Given the description of an element on the screen output the (x, y) to click on. 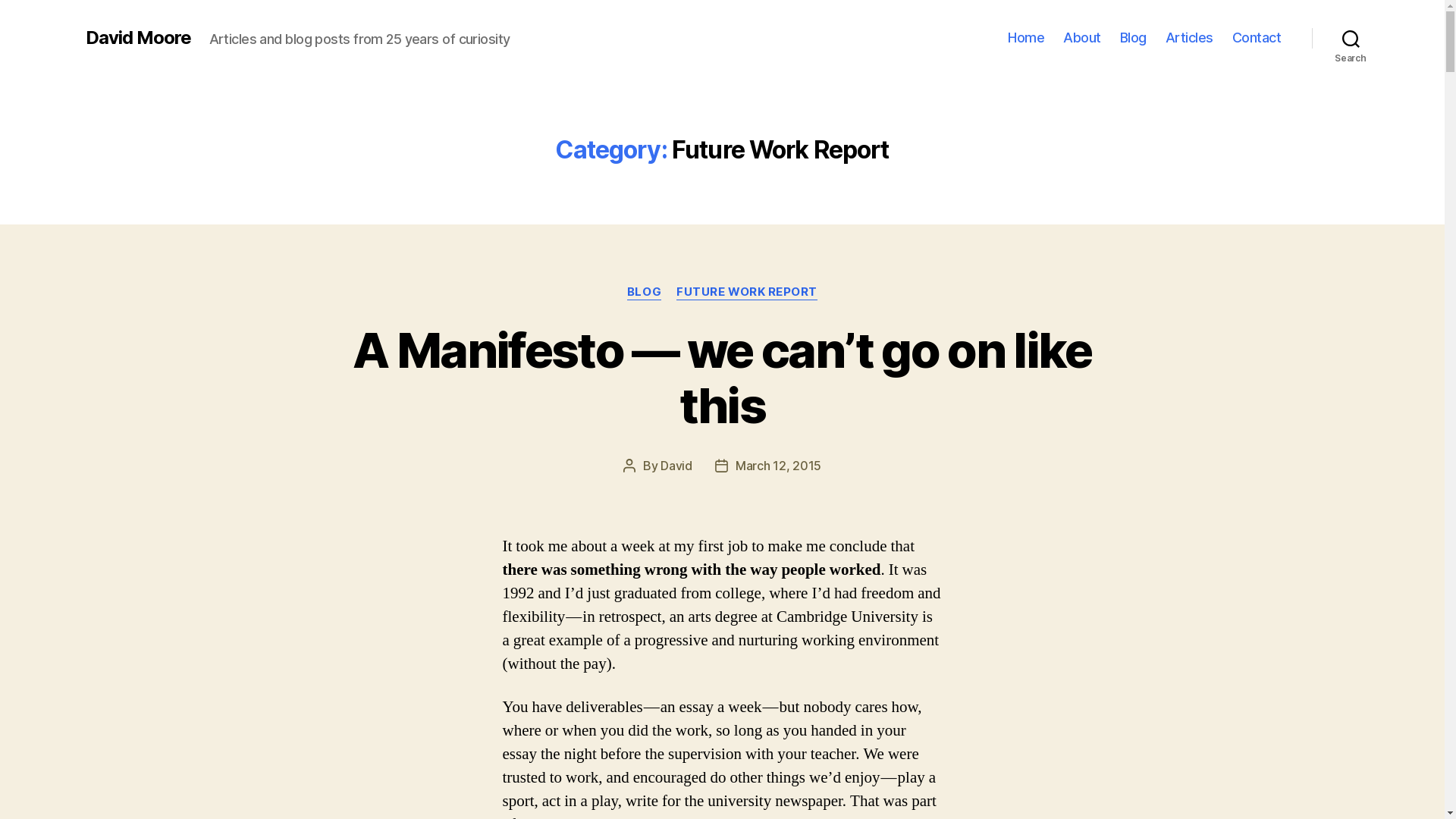
March 12, 2015 Element type: text (778, 465)
FUTURE WORK REPORT Element type: text (746, 292)
Home Element type: text (1025, 37)
Contact Element type: text (1256, 37)
Articles Element type: text (1189, 37)
David Moore Element type: text (137, 37)
About Element type: text (1082, 37)
Search Element type: text (1350, 37)
David Element type: text (676, 465)
BLOG Element type: text (644, 292)
Blog Element type: text (1133, 37)
